Given the description of an element on the screen output the (x, y) to click on. 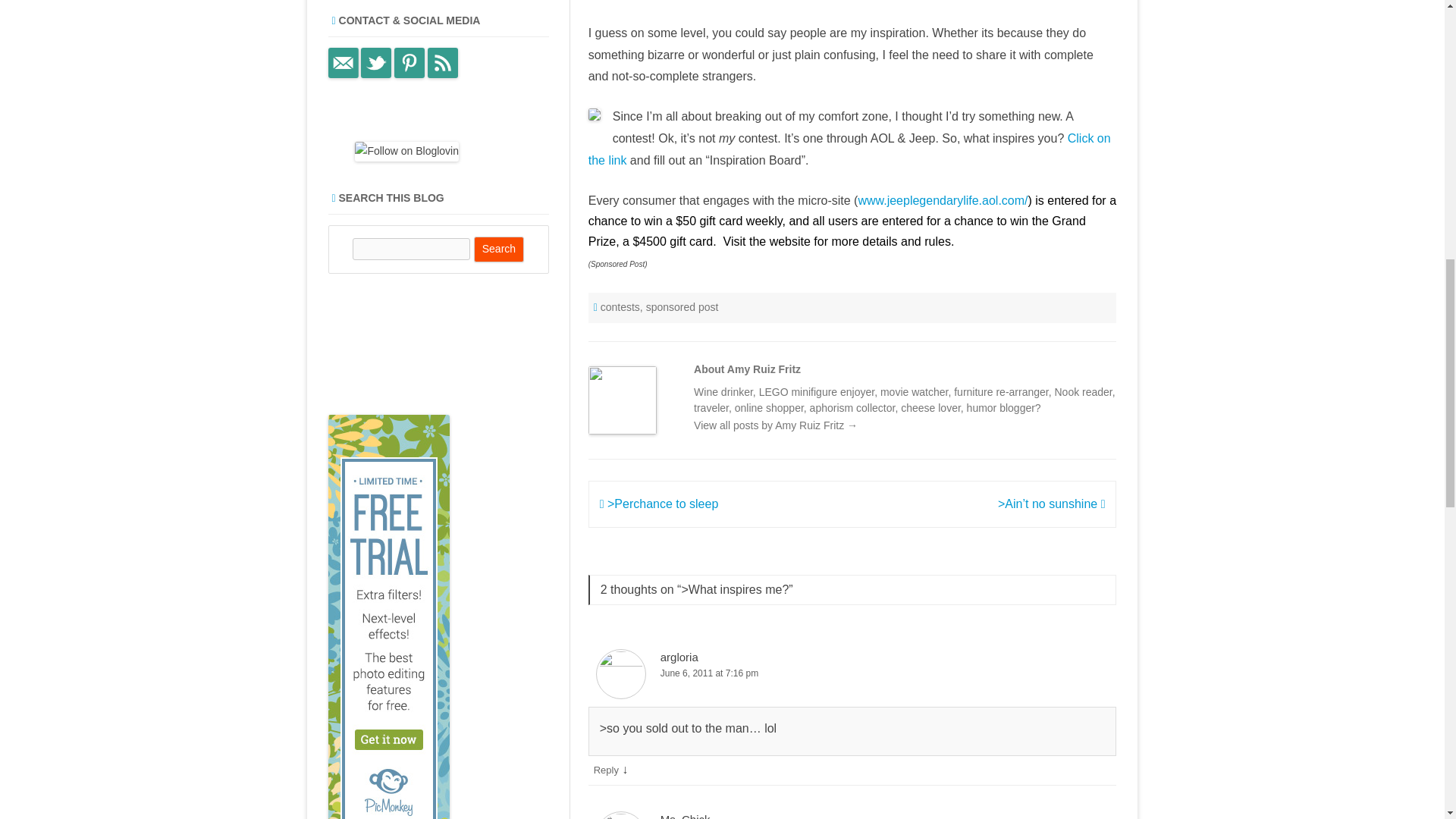
Search (499, 249)
Reply (606, 769)
June 6, 2011 at 7:16 pm (852, 673)
Follow Chronicles of Nothing on Bloglovin (406, 150)
sponsored post (682, 306)
Click on the link (849, 149)
contests (619, 306)
